Given the description of an element on the screen output the (x, y) to click on. 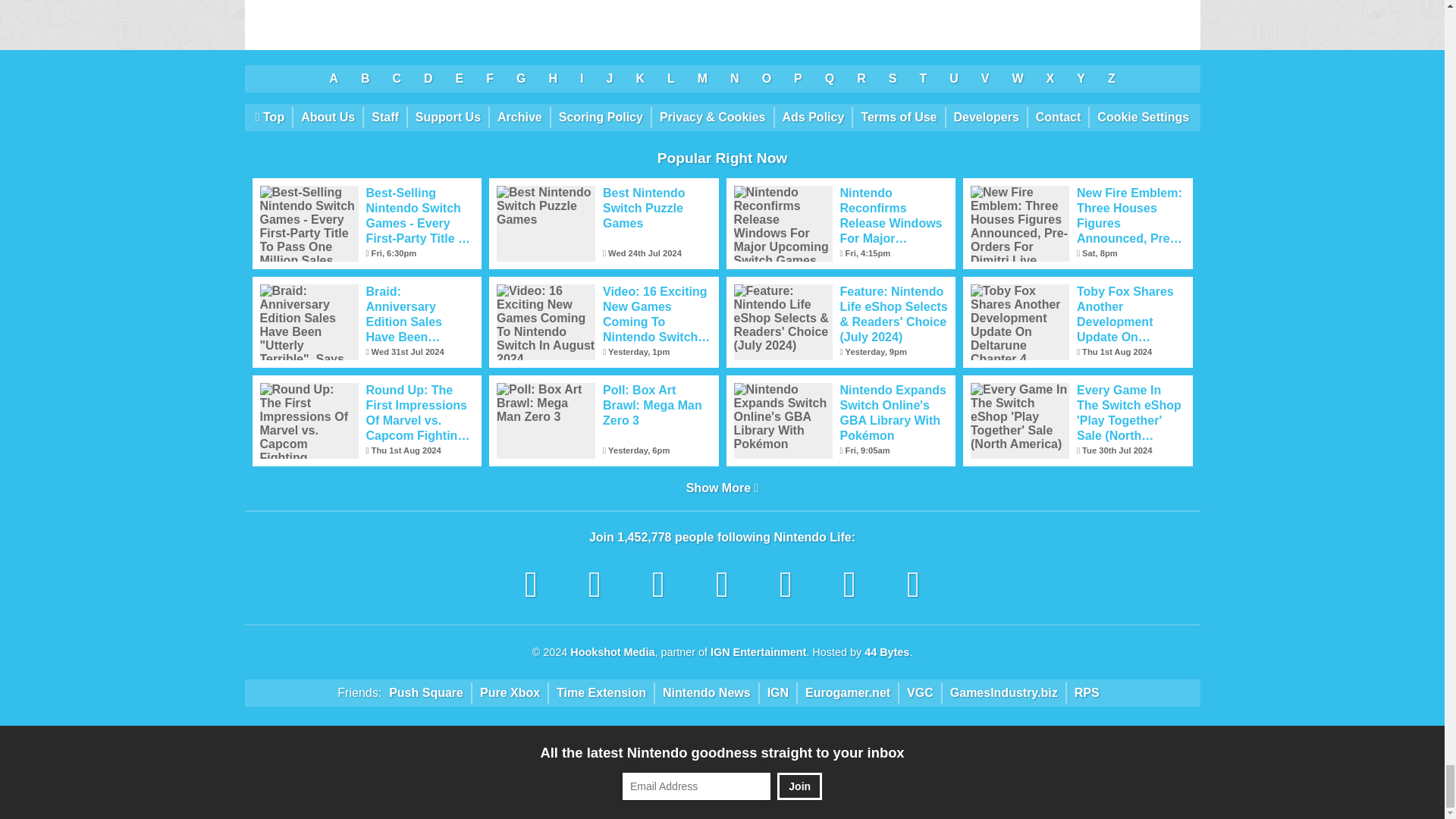
Join (799, 786)
